Given the description of an element on the screen output the (x, y) to click on. 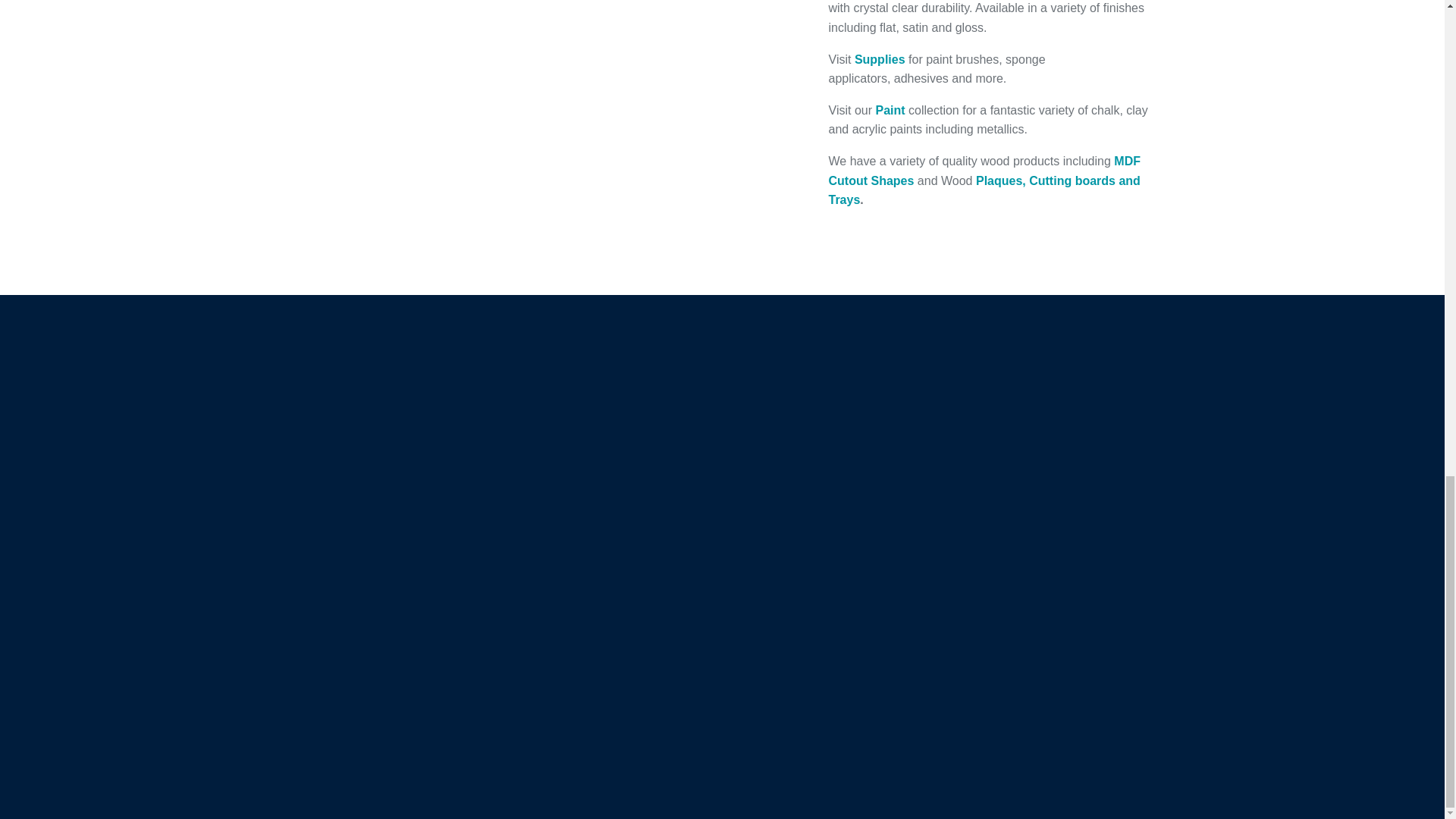
MDF Wood Cutout Shapes for DIY Crafts (984, 170)
